Given the description of an element on the screen output the (x, y) to click on. 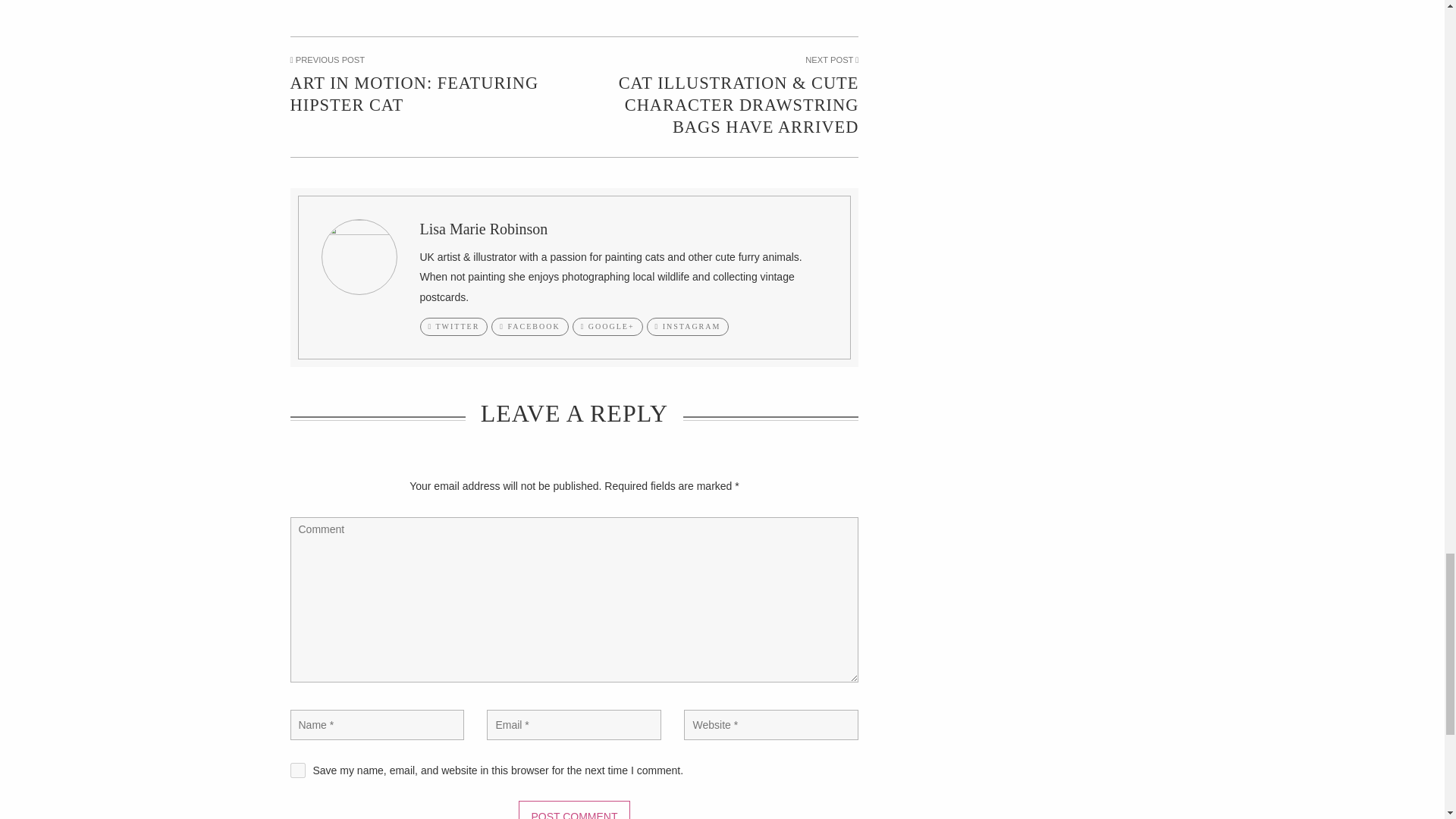
Post Comment (573, 809)
